Given the description of an element on the screen output the (x, y) to click on. 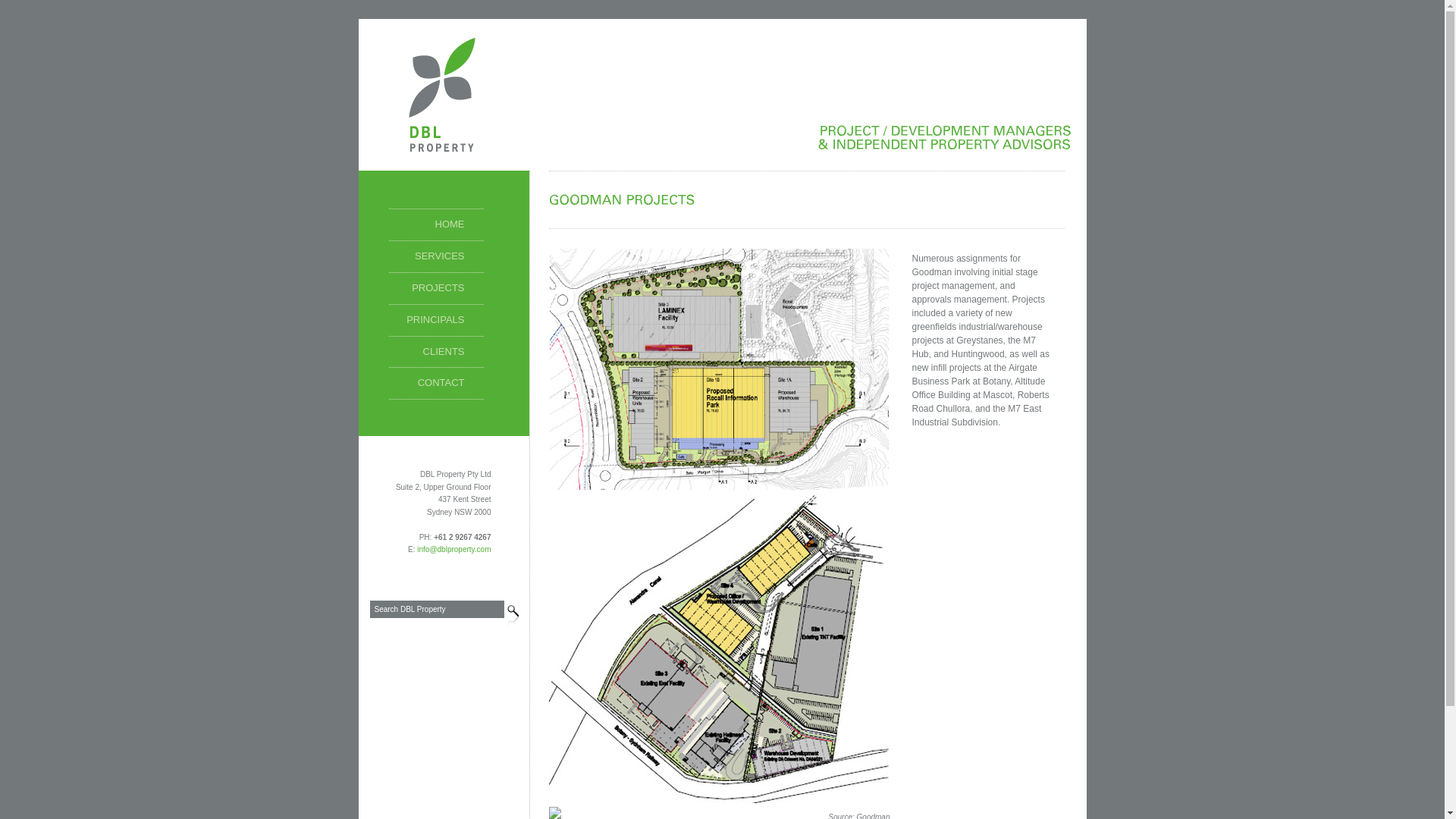
CONTACT Element type: text (435, 383)
info@dblproperty.com Element type: text (453, 549)
Search DBL Property Element type: text (437, 609)
SERVICES Element type: text (435, 257)
PROJECTS Element type: text (435, 288)
PRINCIPALS Element type: text (435, 320)
HOME Element type: text (435, 225)
CLIENTS Element type: text (435, 352)
